Given the description of an element on the screen output the (x, y) to click on. 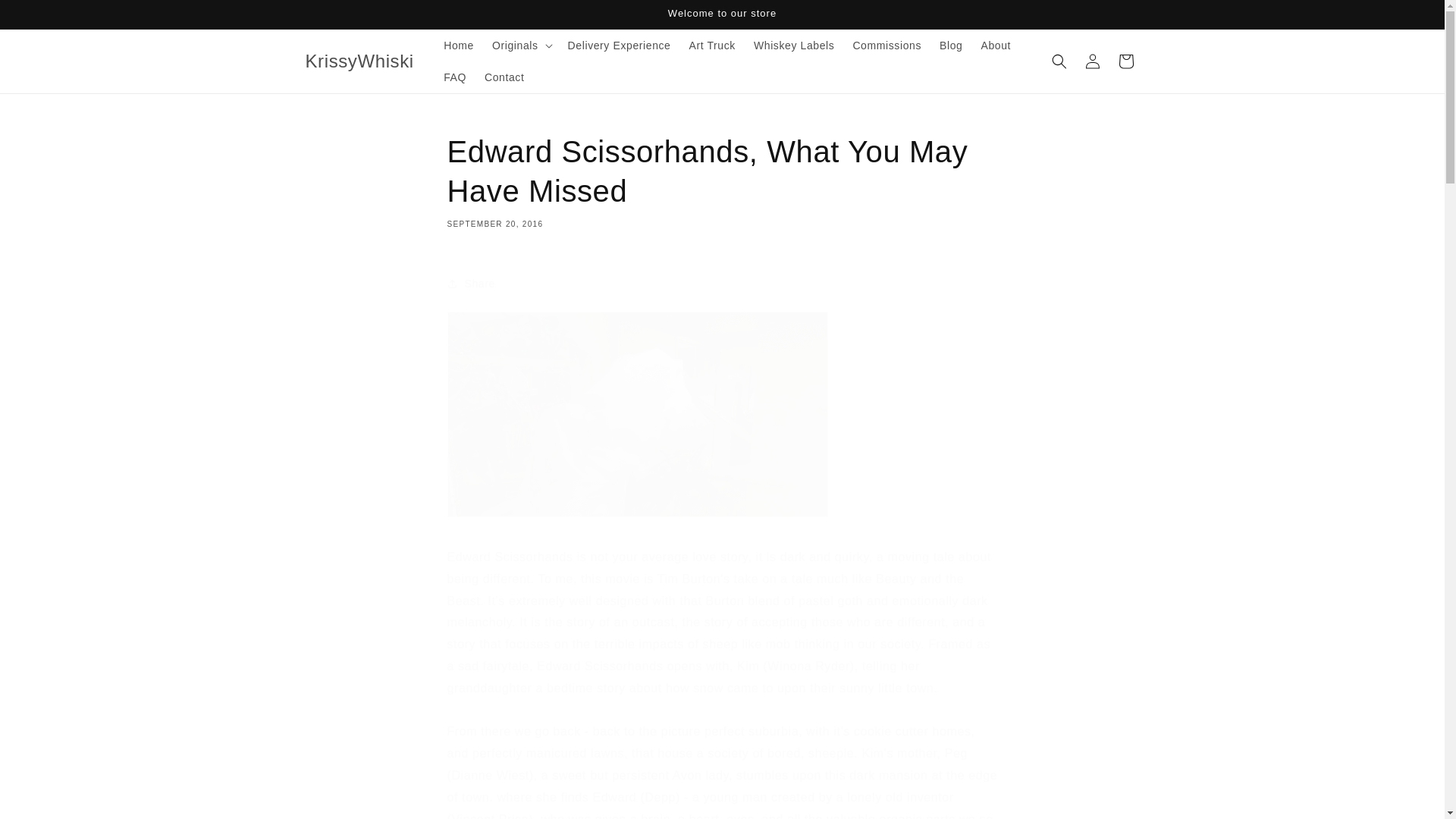
Delivery Experience (619, 45)
Art Truck (711, 45)
Commissions (886, 45)
Share (721, 283)
Whiskey Labels (793, 45)
Contact (504, 77)
Log in (1091, 61)
Blog (950, 45)
KrissyWhiski (359, 61)
Cart (1124, 61)
About (995, 45)
Skip to content (45, 17)
FAQ (454, 77)
Home (458, 45)
